Given the description of an element on the screen output the (x, y) to click on. 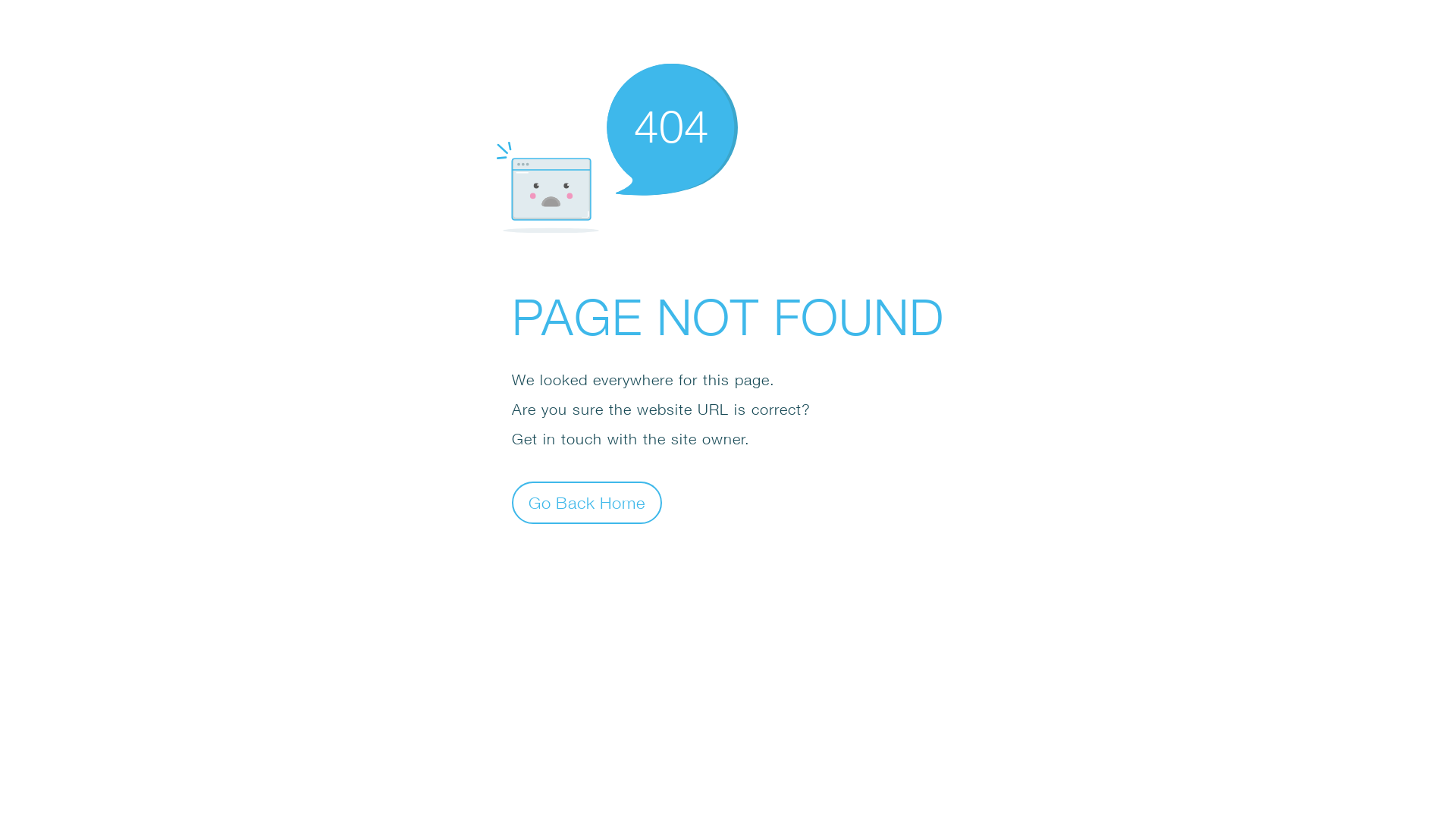
Go Back Home Element type: text (586, 502)
